Given the description of an element on the screen output the (x, y) to click on. 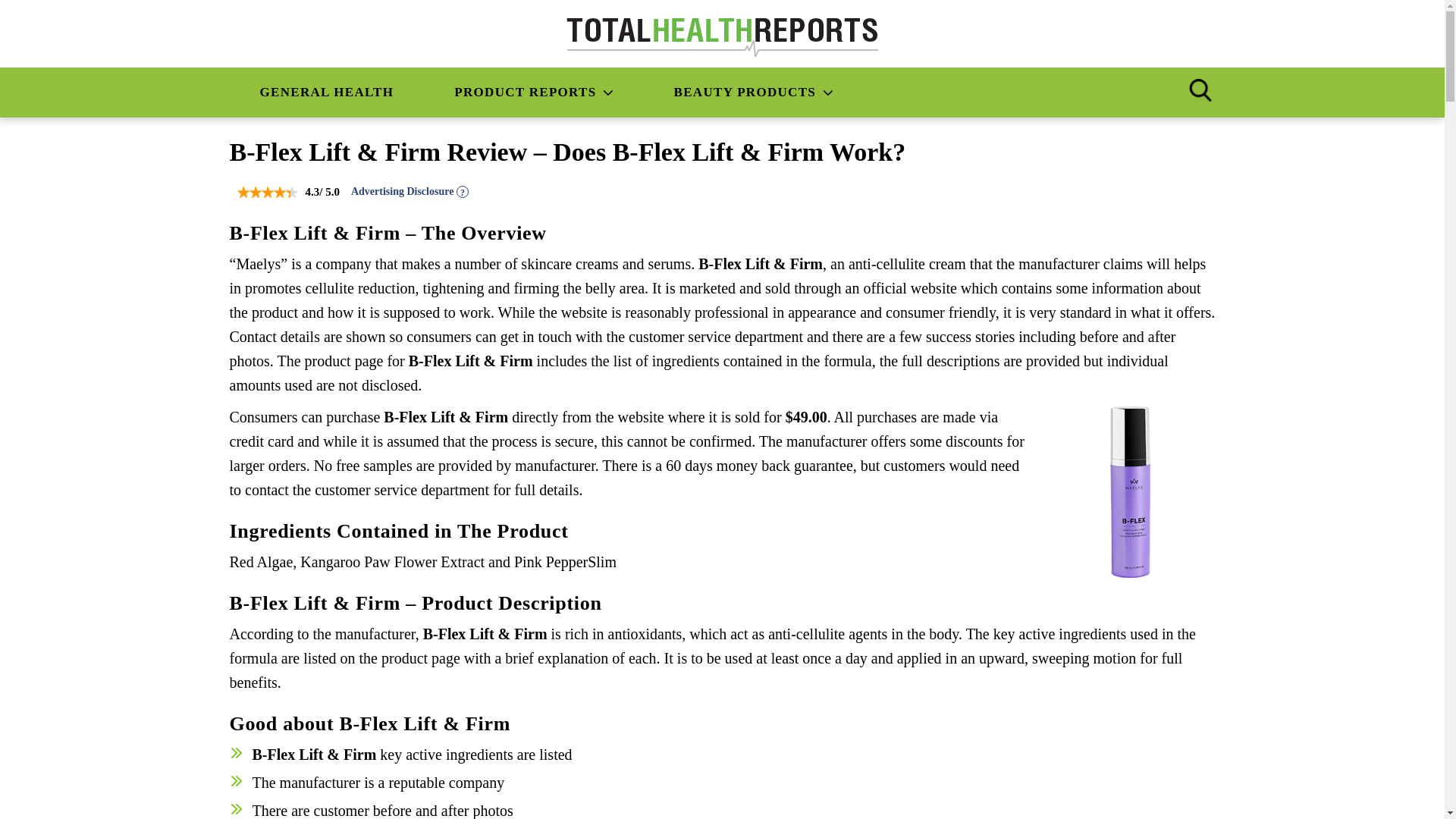
BEAUTY PRODUCTS (753, 92)
PRODUCT REPORTS (533, 92)
Advertising Disclosure ? (409, 191)
GENERAL HEALTH (325, 92)
